Given the description of an element on the screen output the (x, y) to click on. 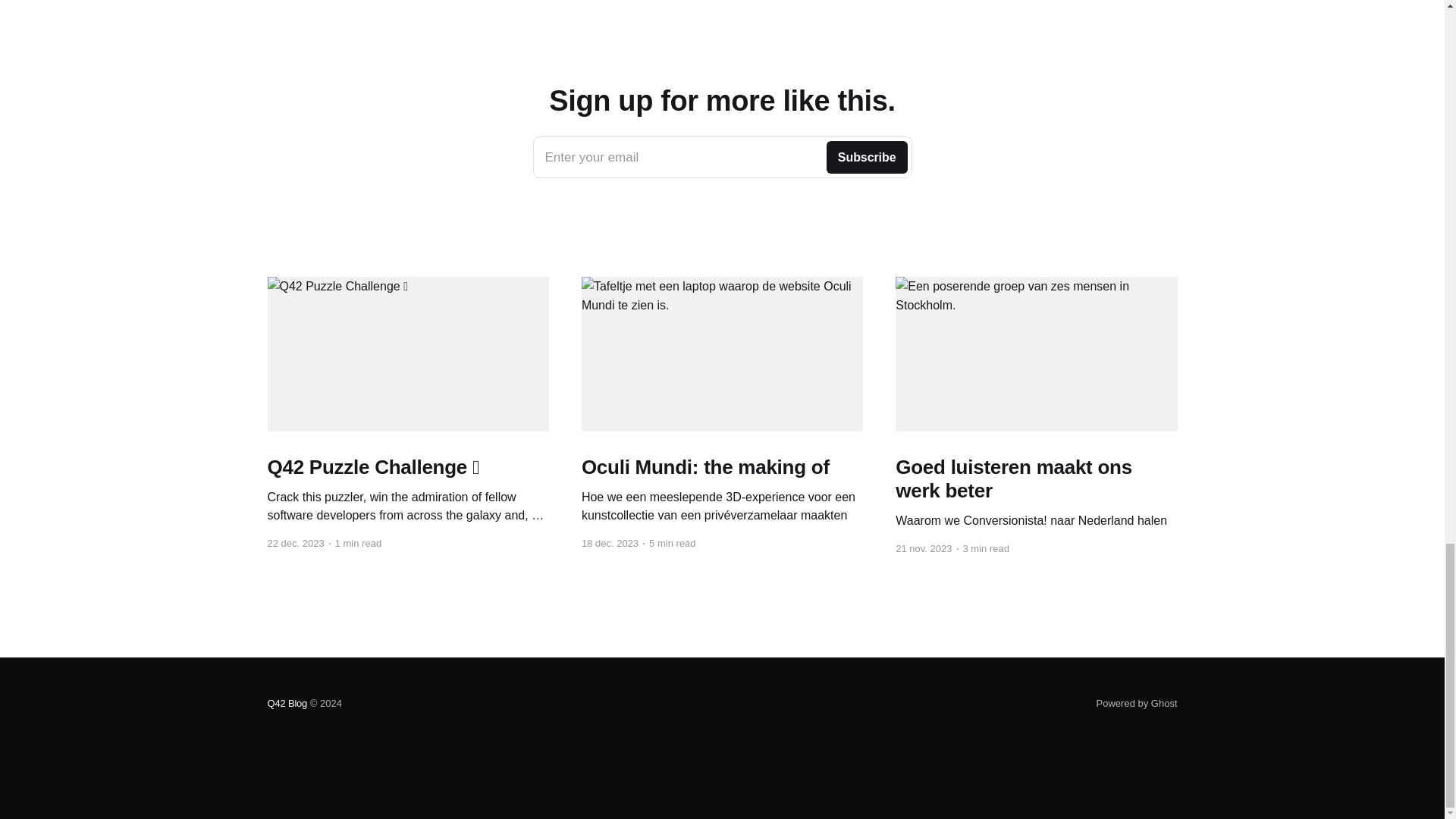
Powered by Ghost (1136, 703)
Q42 Blog (286, 703)
